Given the description of an element on the screen output the (x, y) to click on. 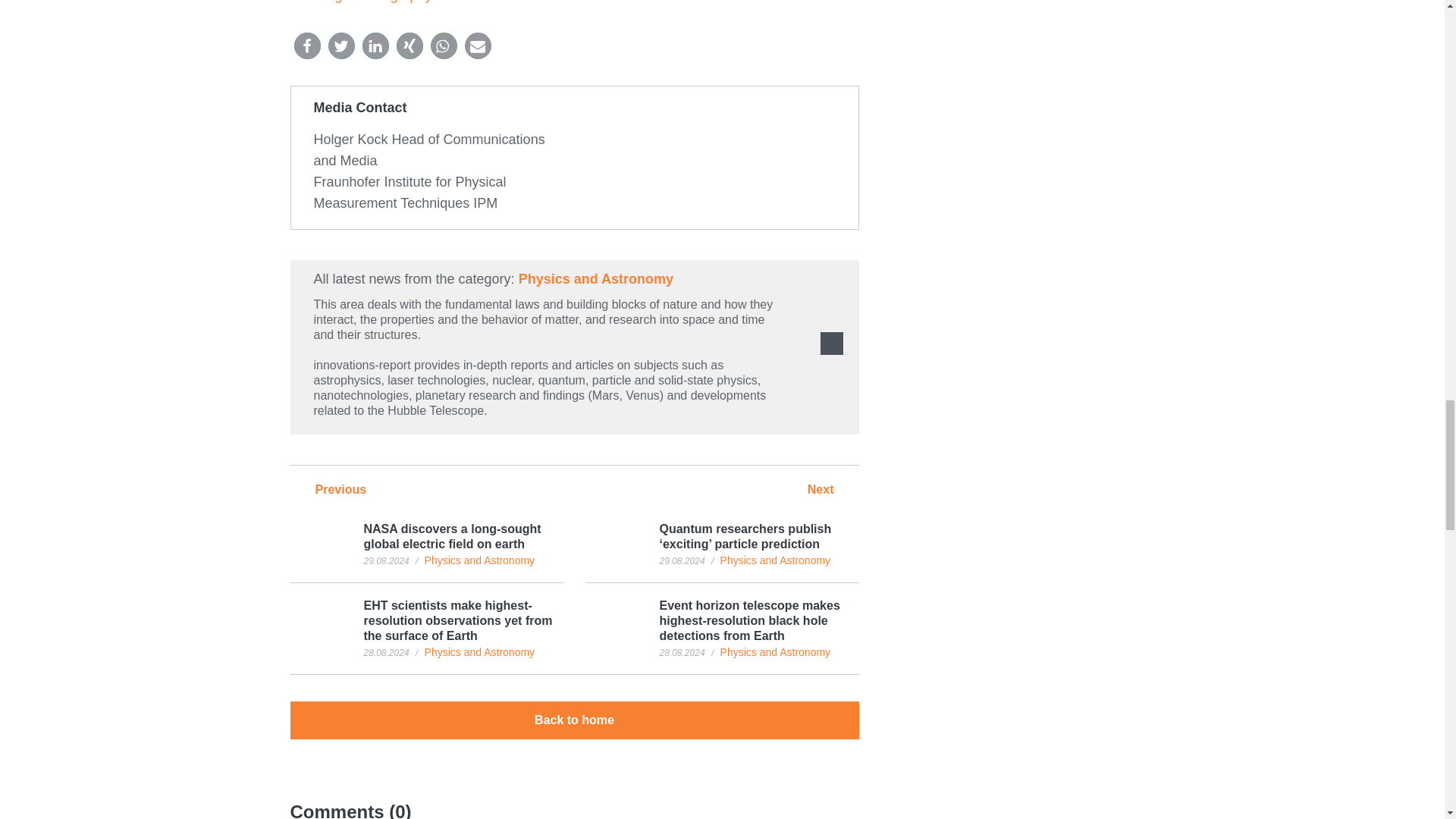
Share on LinkedIn (375, 45)
Share on Twitter (340, 45)
Share on Facebook (307, 45)
Share on Whatsapp (443, 45)
Send by email (477, 45)
Share on XING (409, 45)
